Given the description of an element on the screen output the (x, y) to click on. 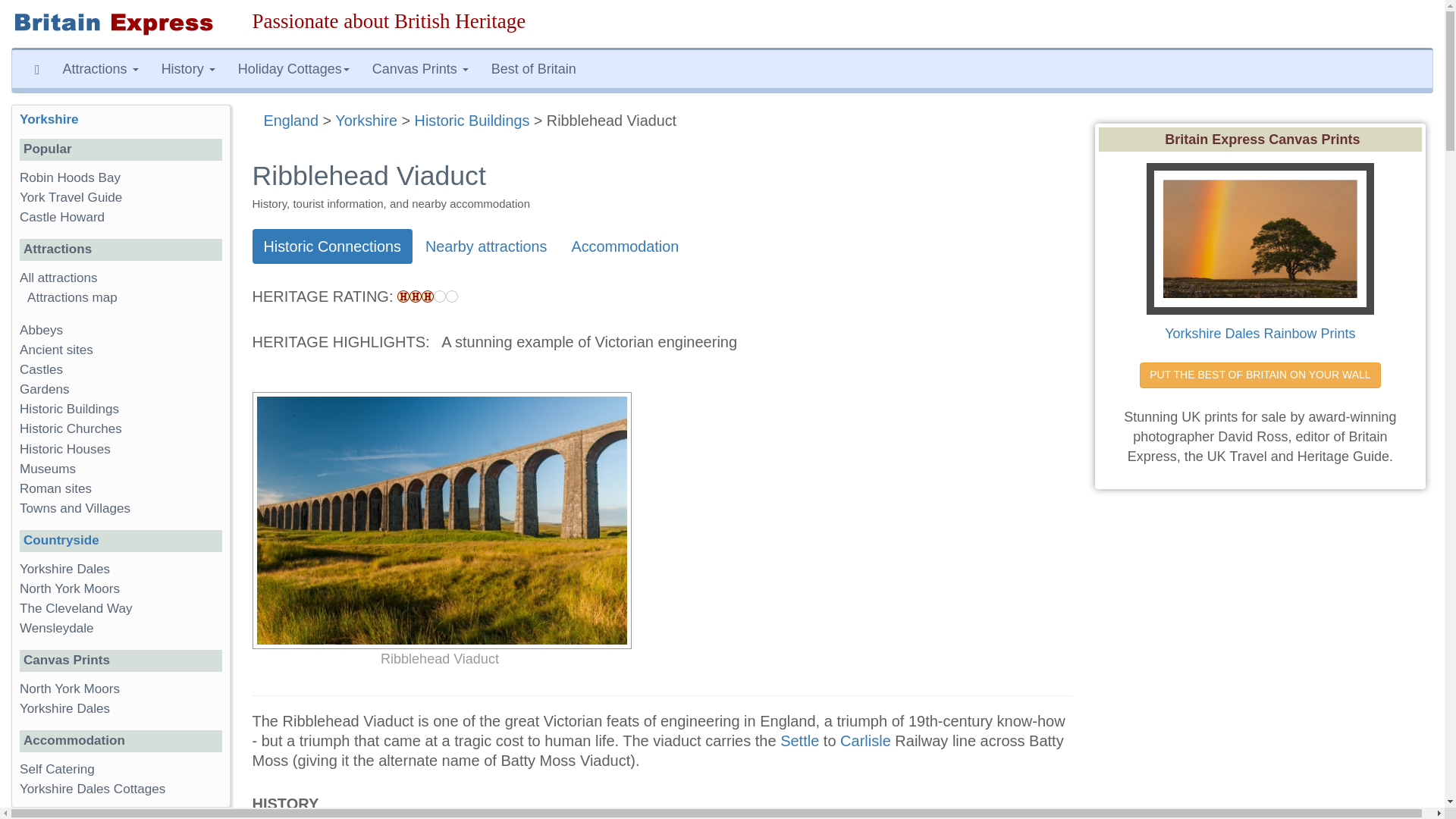
Holiday Cottages (294, 68)
England (290, 120)
Nearby attractions (486, 246)
Best of Britain (534, 68)
Accommodation (624, 246)
Carlisle, Cumbria (865, 740)
Settle, Yorkshire (799, 740)
Canvas Prints (420, 68)
Historic Connections (331, 246)
Yorkshire (365, 120)
History (188, 68)
Attractions (99, 68)
Historic Buildings (471, 120)
Settle (799, 740)
Britain Express home page (120, 23)
